Given the description of an element on the screen output the (x, y) to click on. 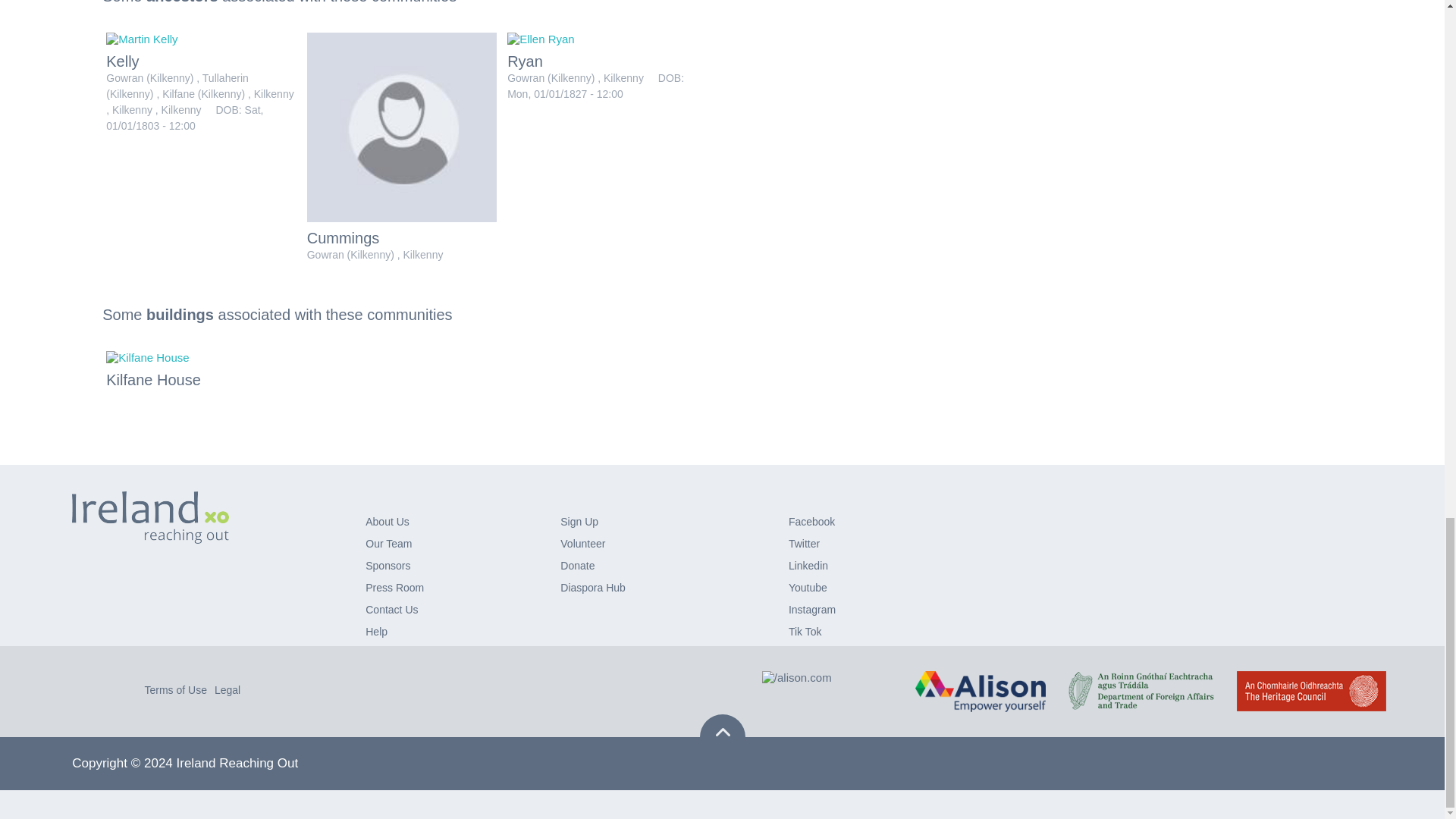
Michael  James Cummings  (401, 126)
Martin Kelly (141, 38)
Ellen Ryan (540, 38)
Contact Us (391, 609)
Ireland Reaching Out (149, 517)
Kilfane House (147, 357)
